Given the description of an element on the screen output the (x, y) to click on. 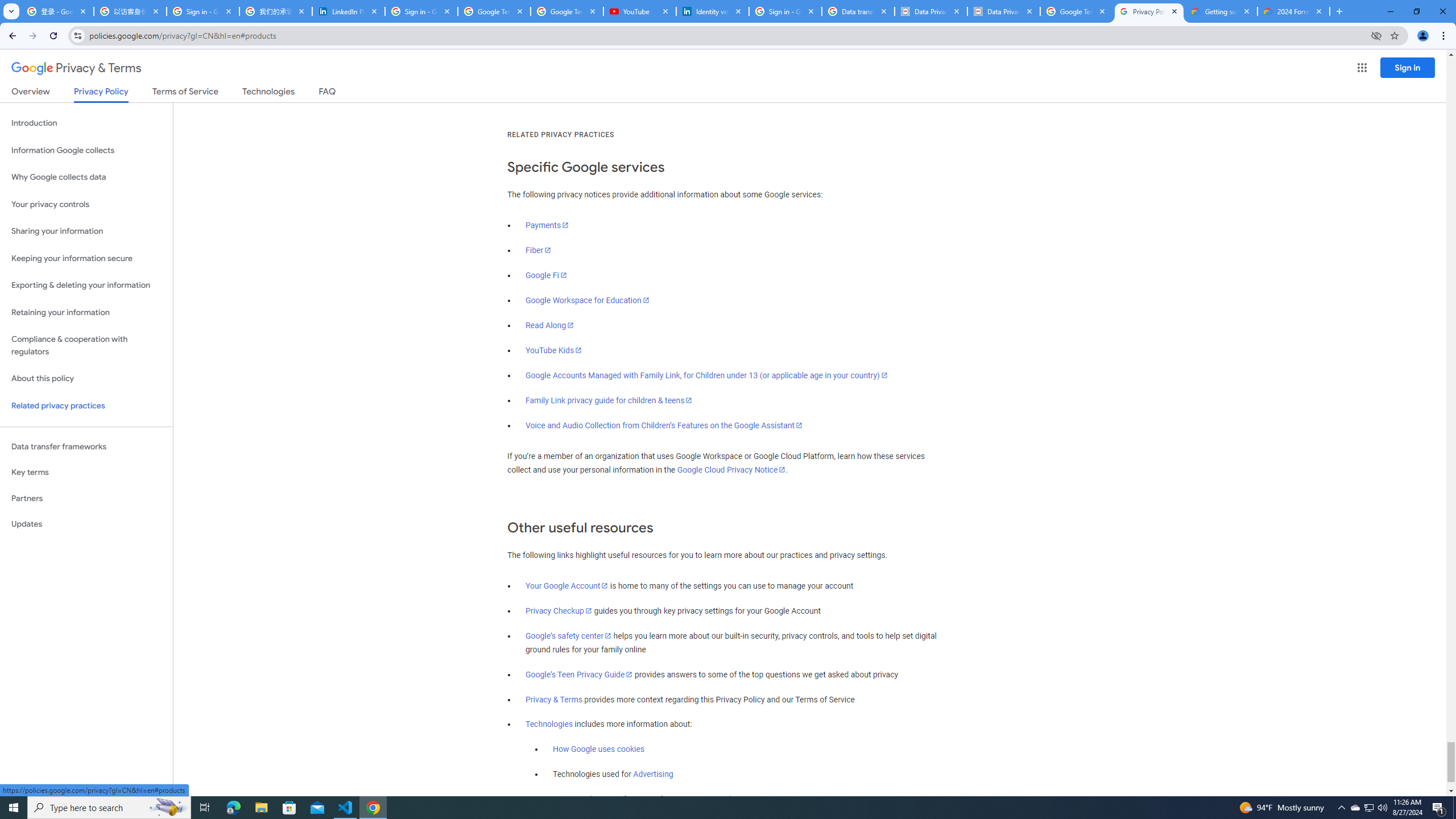
Updates (86, 524)
Privacy & Terms (553, 699)
FAQ (327, 93)
Technologies (549, 724)
Data transfer frameworks (86, 446)
Related privacy practices (86, 405)
Sign in - Google Accounts (202, 11)
